Given the description of an element on the screen output the (x, y) to click on. 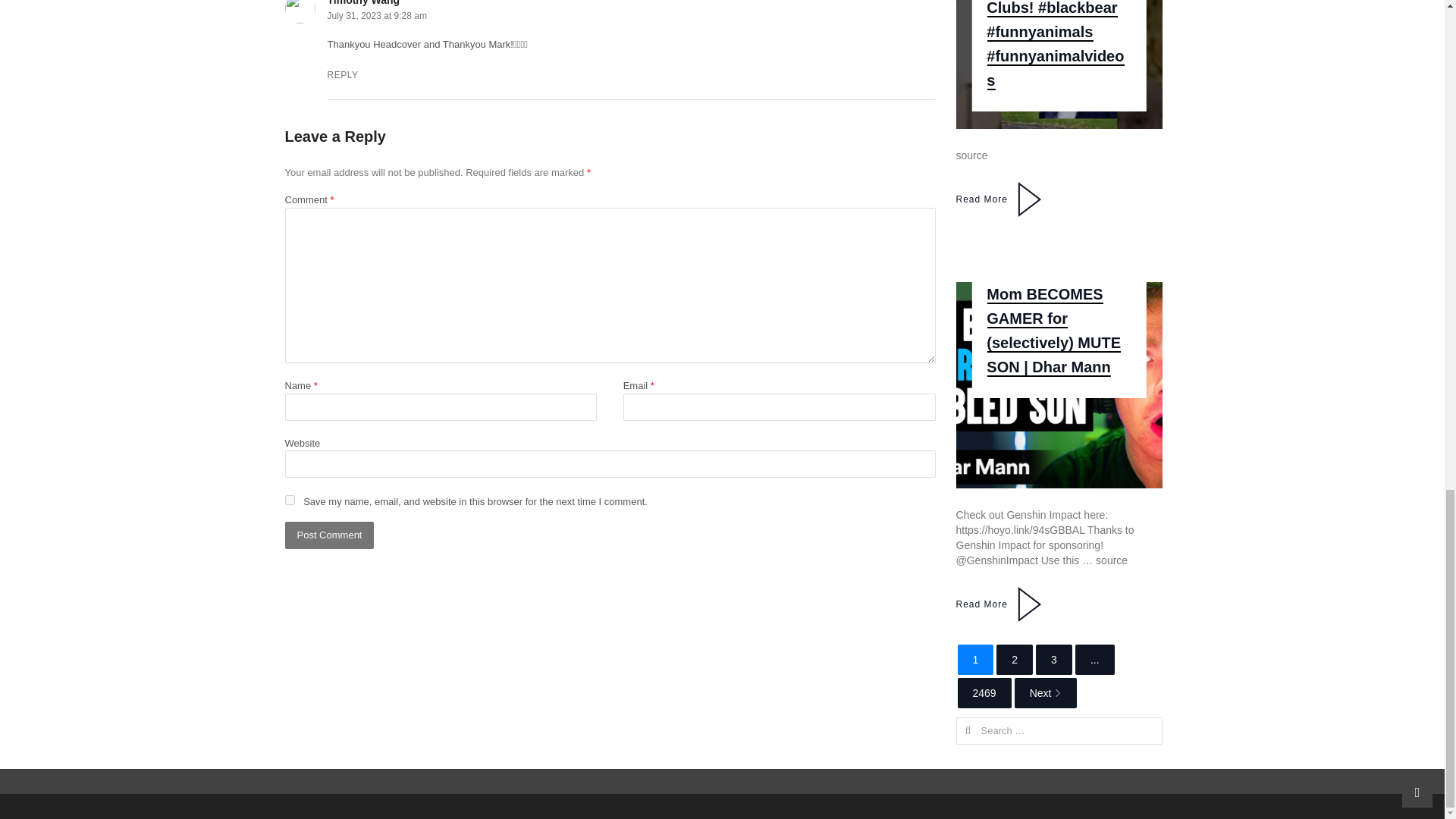
yes (290, 500)
Post Comment (329, 534)
